Given the description of an element on the screen output the (x, y) to click on. 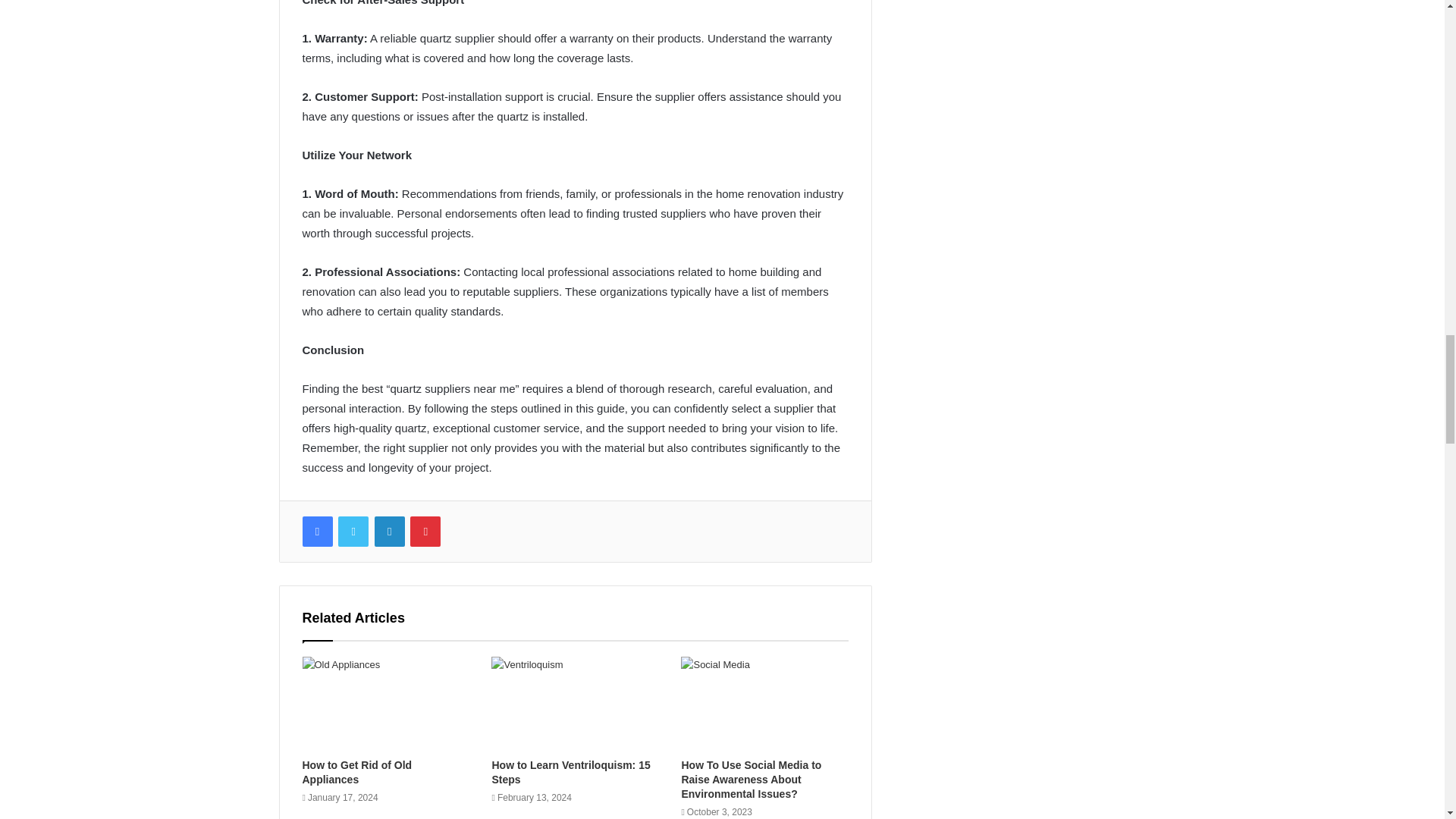
Twitter (352, 531)
Facebook (316, 531)
Pinterest (425, 531)
Twitter (352, 531)
How to Learn Ventriloquism: 15 Steps (570, 772)
LinkedIn (389, 531)
LinkedIn (389, 531)
Pinterest (425, 531)
Facebook (316, 531)
